Given the description of an element on the screen output the (x, y) to click on. 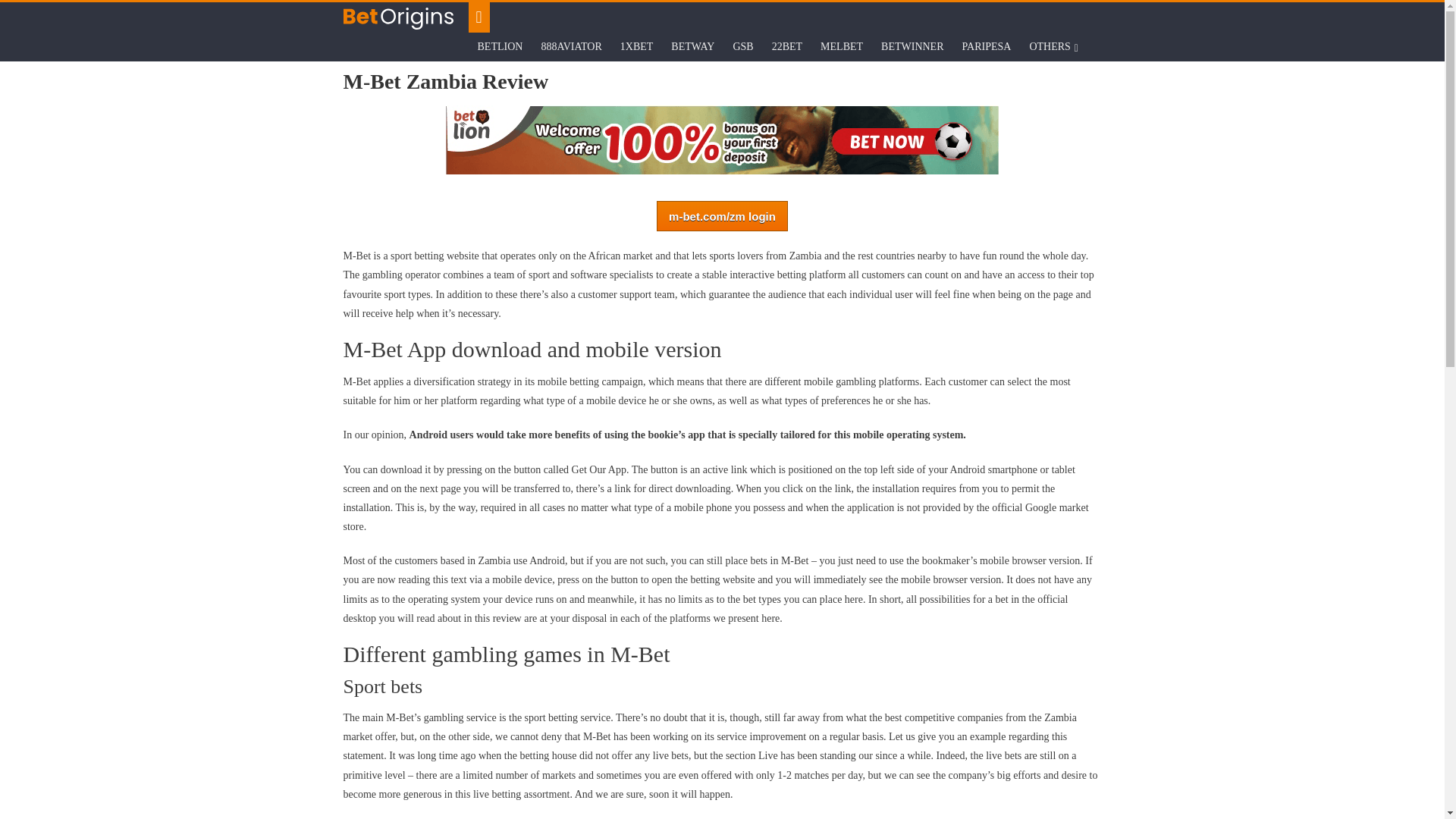
1XBET (636, 46)
BETWINNER (911, 46)
BETLION (500, 46)
PARIPESA (987, 46)
888AVIATOR (570, 46)
MELBET (841, 46)
OTHERS (1049, 46)
BETWAY (692, 46)
GSB (742, 46)
22BET (786, 46)
